Given the description of an element on the screen output the (x, y) to click on. 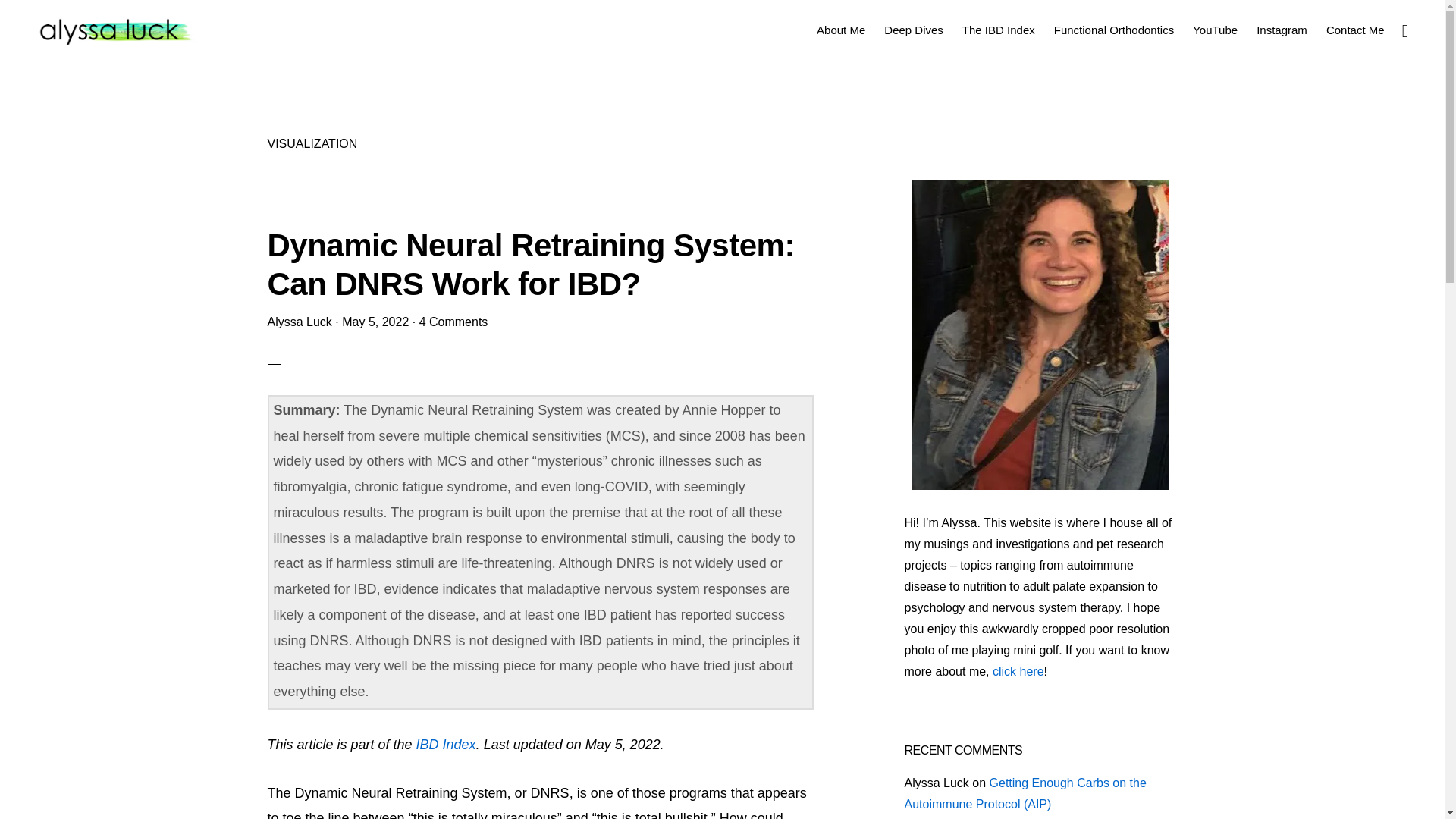
Contact Me (1355, 29)
Dynamic Neural Retraining System: Can DNRS Work for IBD? (529, 264)
4 Comments (453, 321)
Functional Orthodontics (1113, 29)
Alyssa Luck (298, 321)
YouTube (1214, 29)
Instagram (1281, 29)
click here (1017, 671)
The IBD Index (998, 29)
